Given the description of an element on the screen output the (x, y) to click on. 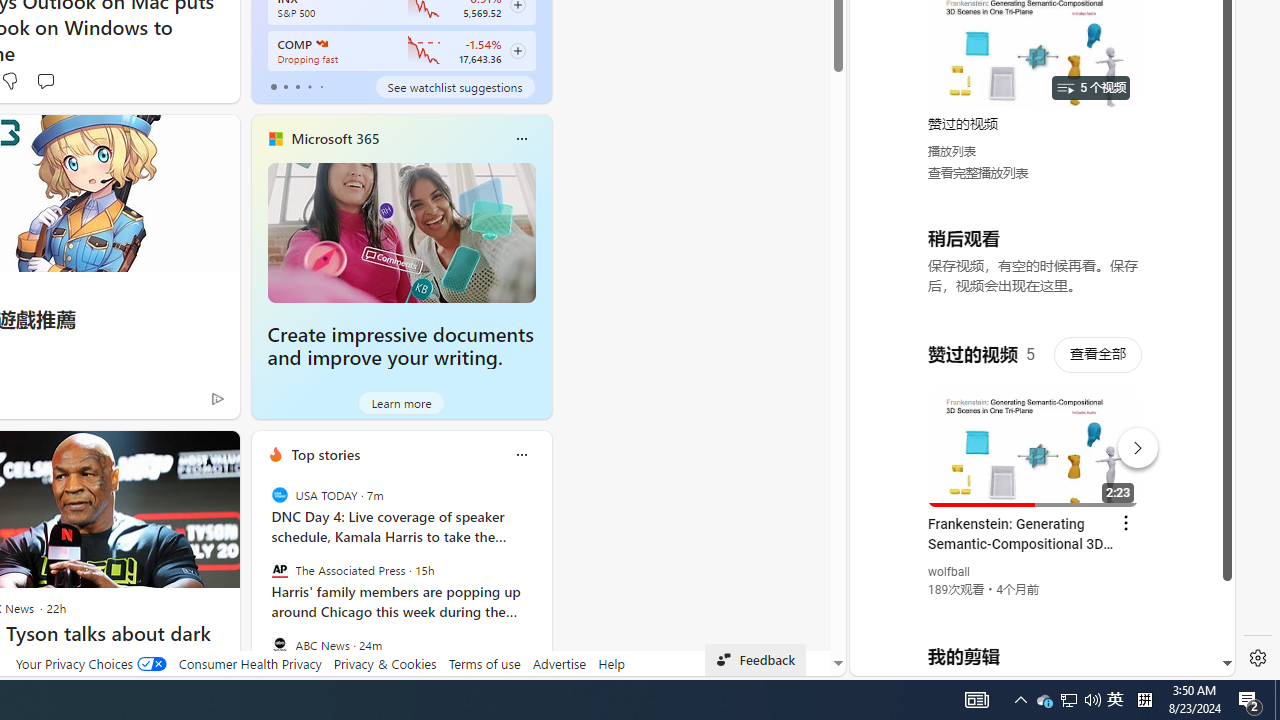
See watchlist suggestions (454, 86)
Your Privacy Choices (90, 663)
#you (1034, 439)
Global web icon (888, 432)
Class: dict_pnIcon rms_img (1028, 660)
Class: follow-button  m (517, 51)
Click to scroll right (1196, 83)
Hide this story (178, 454)
See more (214, 454)
The Associated Press (279, 570)
Top stories (325, 454)
